Given the description of an element on the screen output the (x, y) to click on. 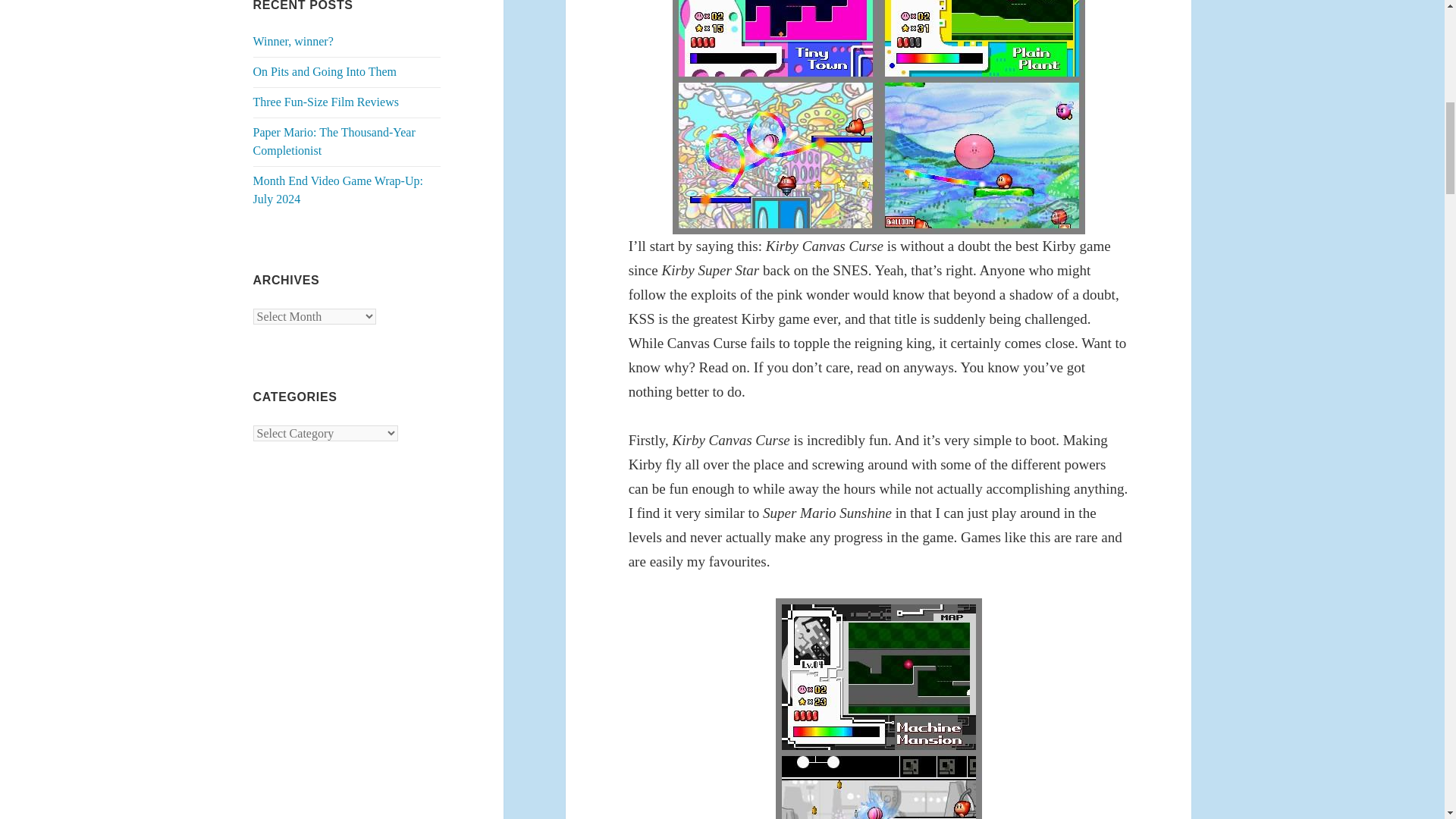
Three Fun-Size Film Reviews (325, 101)
On Pits and Going Into Them (324, 71)
Winner, winner? (293, 41)
Paper Mario: The Thousand-Year Completionist (333, 141)
Month End Video Game Wrap-Up: July 2024 (338, 189)
